Given the description of an element on the screen output the (x, y) to click on. 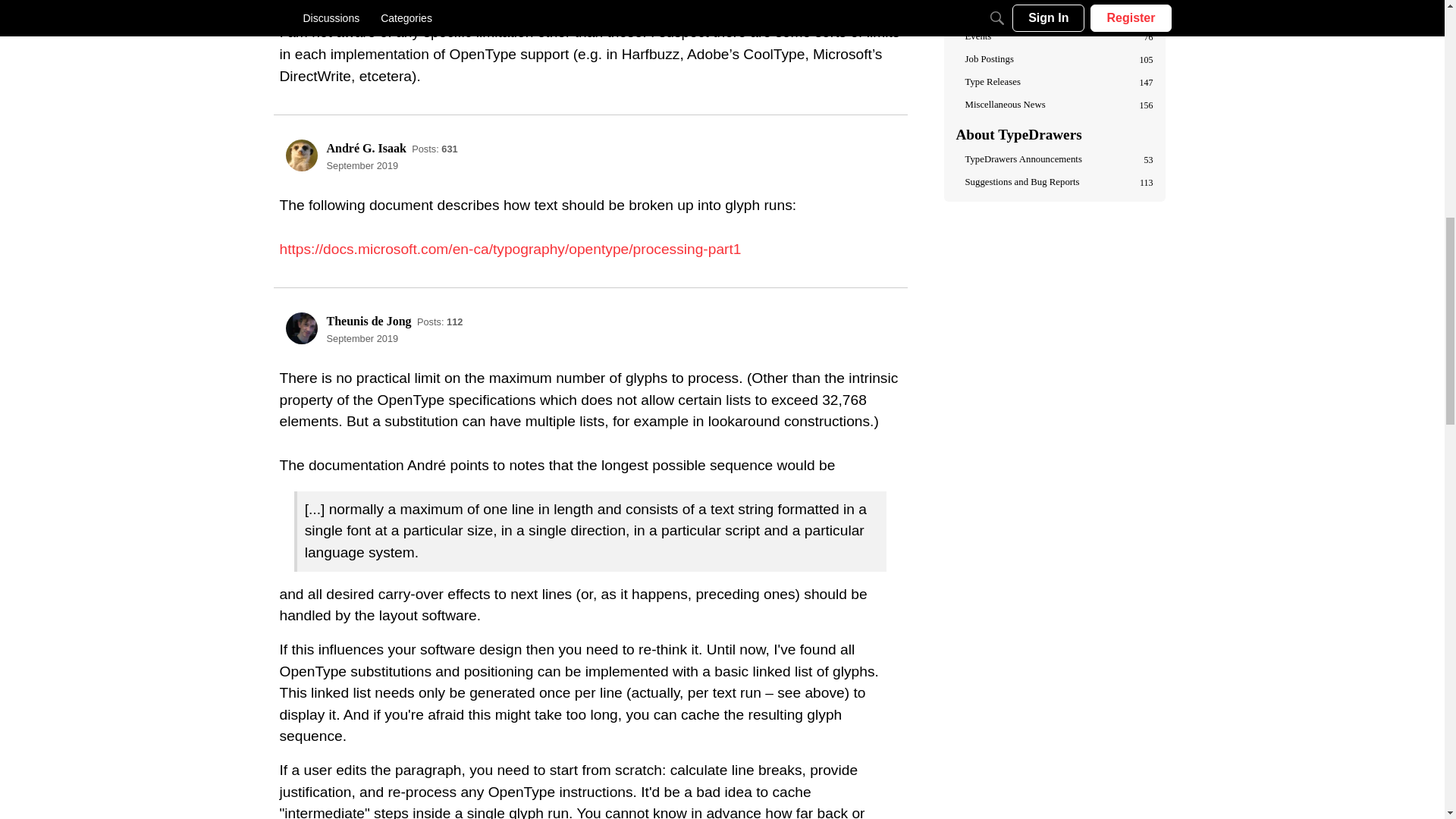
September 12, 2019 7:15AM (361, 165)
Theunis de Jong (301, 327)
September 2019 (361, 165)
Theunis de Jong (368, 320)
September 12, 2019 8:46AM (361, 337)
September 2019 (361, 337)
